Given the description of an element on the screen output the (x, y) to click on. 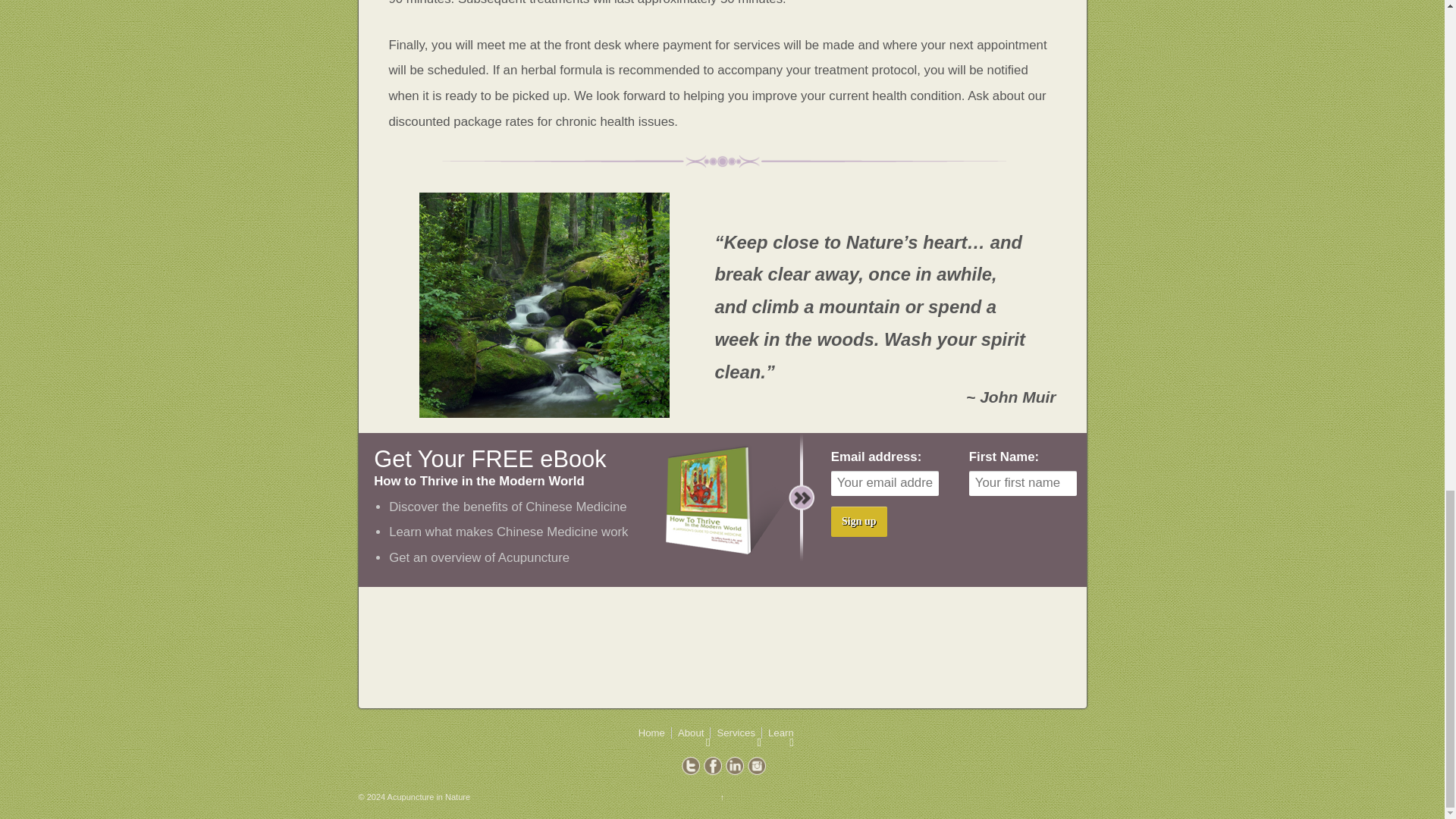
Acupuncture in Nature (427, 796)
Home (655, 732)
Acupuncture in Nature (427, 796)
Learn (777, 732)
Services (735, 732)
Sign up (858, 521)
Sign up (858, 521)
About (690, 732)
